Given the description of an element on the screen output the (x, y) to click on. 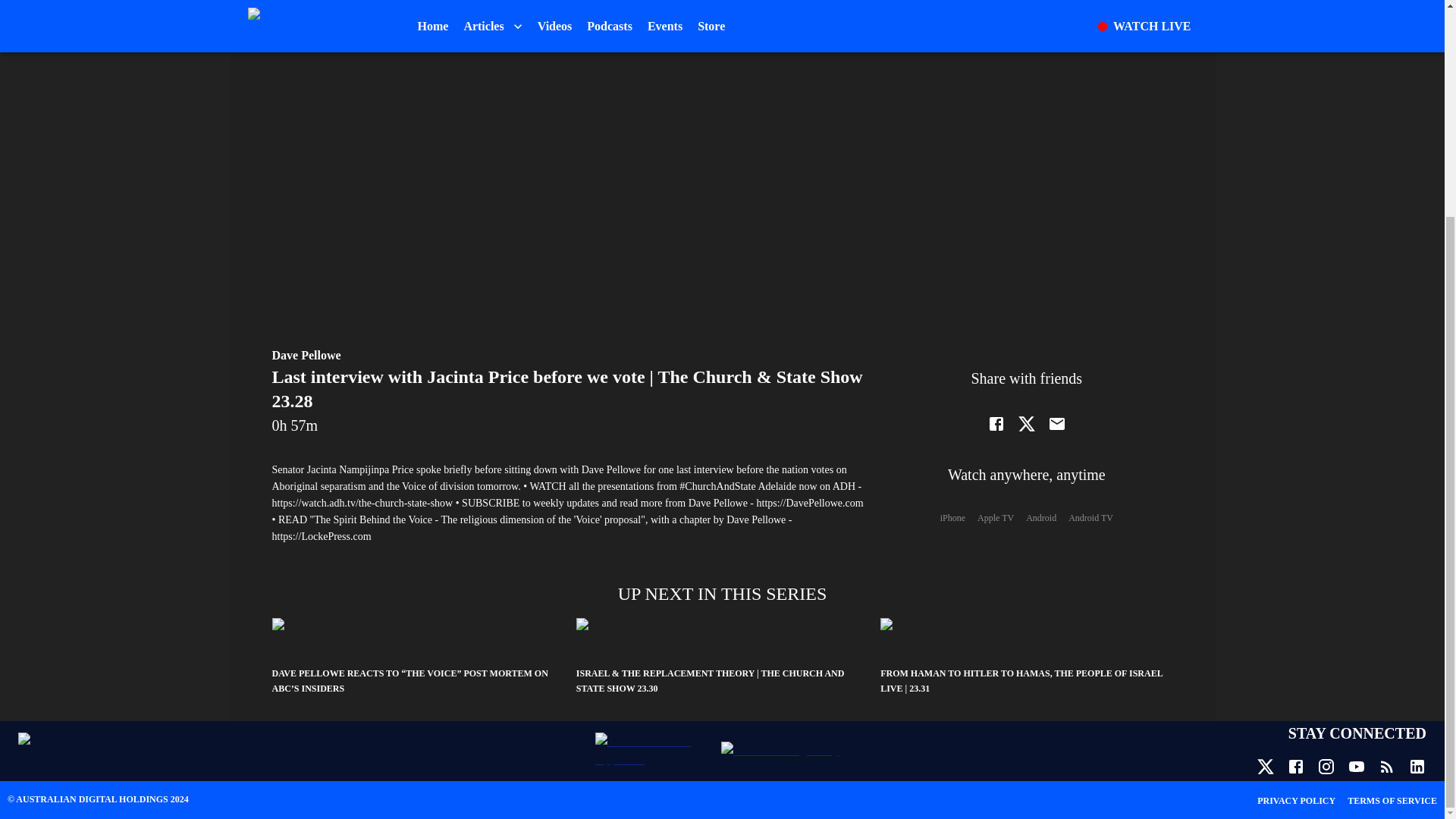
PRIVACY POLICY (1296, 800)
Download on the App Store (652, 750)
Apple TV (994, 518)
Get it on Google Play (784, 750)
TERMS OF SERVICE (1392, 800)
Android TV (1090, 518)
Android (1041, 518)
Dave Pellowe (305, 354)
iPhone (952, 518)
